Given the description of an element on the screen output the (x, y) to click on. 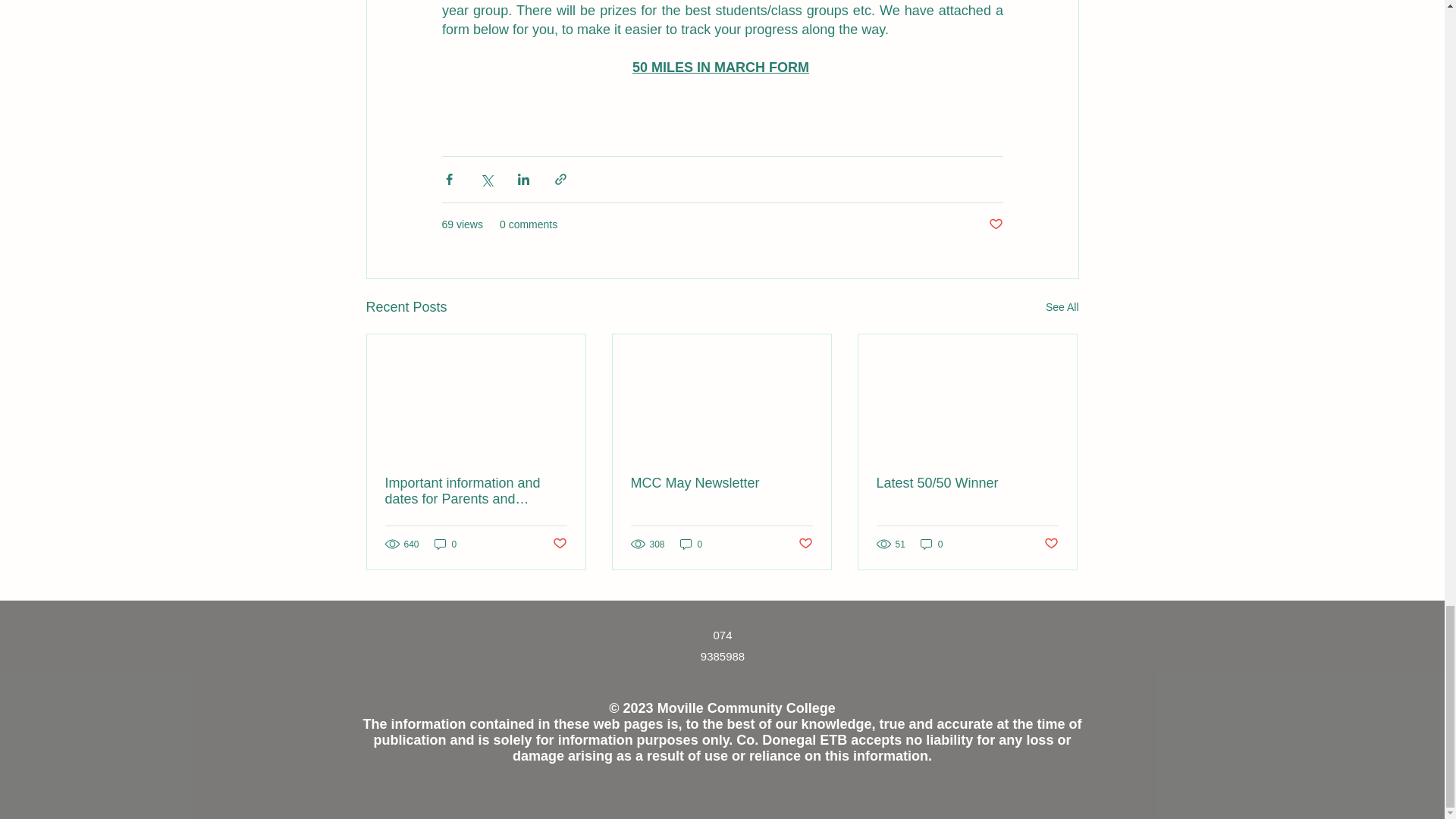
50 MILES IN MARCH FORM (719, 67)
MCC May Newsletter (721, 483)
0 (445, 544)
Important information and dates for Parents and Students (476, 490)
Post not marked as liked (995, 224)
Post not marked as liked (804, 544)
Post not marked as liked (558, 544)
0 (691, 544)
See All (1061, 307)
